Given the description of an element on the screen output the (x, y) to click on. 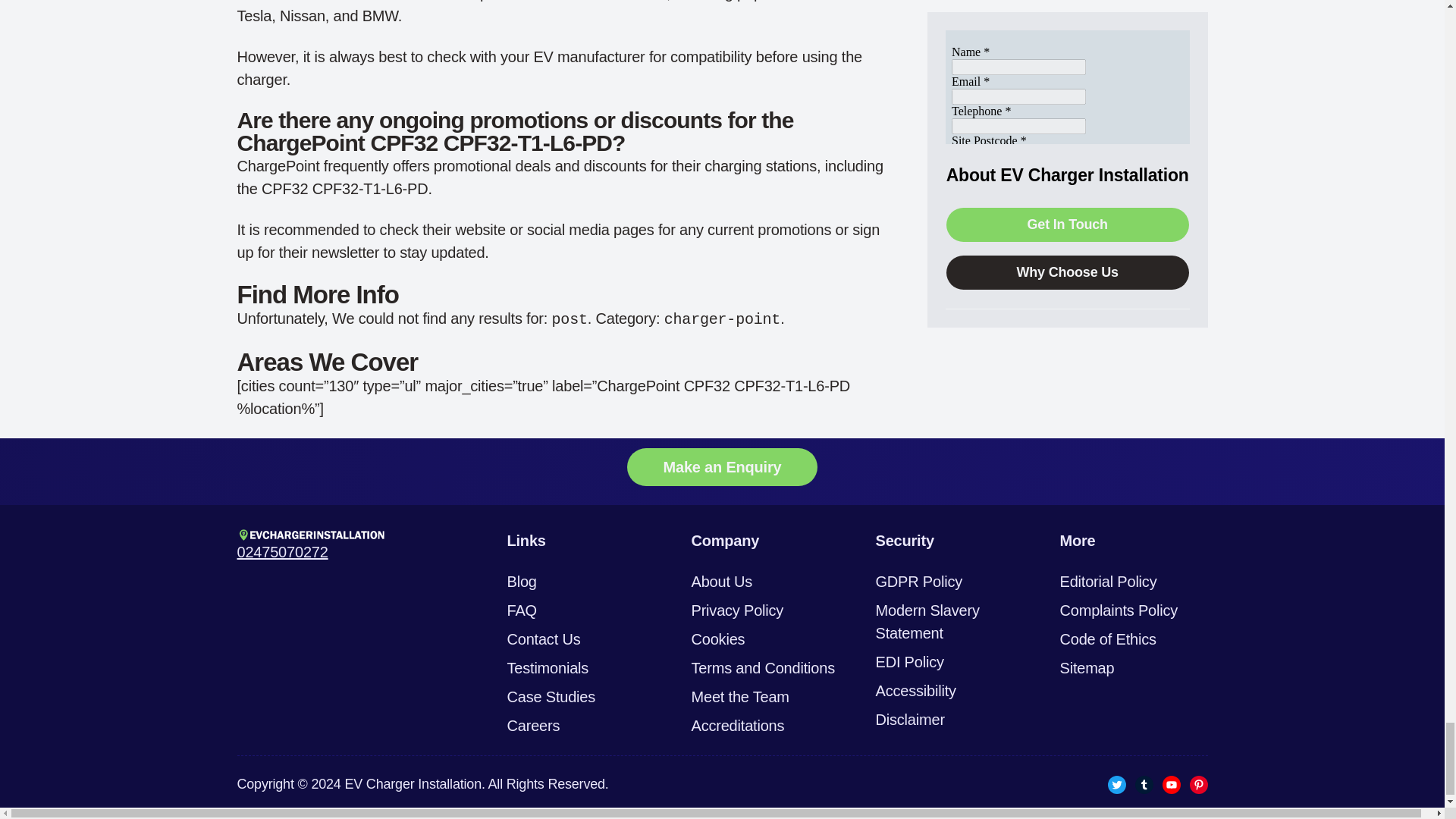
Code of Ethics (1107, 638)
Tumblr (1143, 784)
Twitter (1115, 784)
EDI Policy (909, 661)
Blog (520, 581)
Cookies (718, 638)
Case Studies (550, 696)
Accreditations (737, 725)
Accessibility (915, 690)
Complaints Policy (1118, 610)
Privacy Policy (737, 610)
Terms and Conditions (762, 668)
Testimonials (547, 668)
Disclaimer (909, 719)
Editorial Policy (1108, 581)
